Given the description of an element on the screen output the (x, y) to click on. 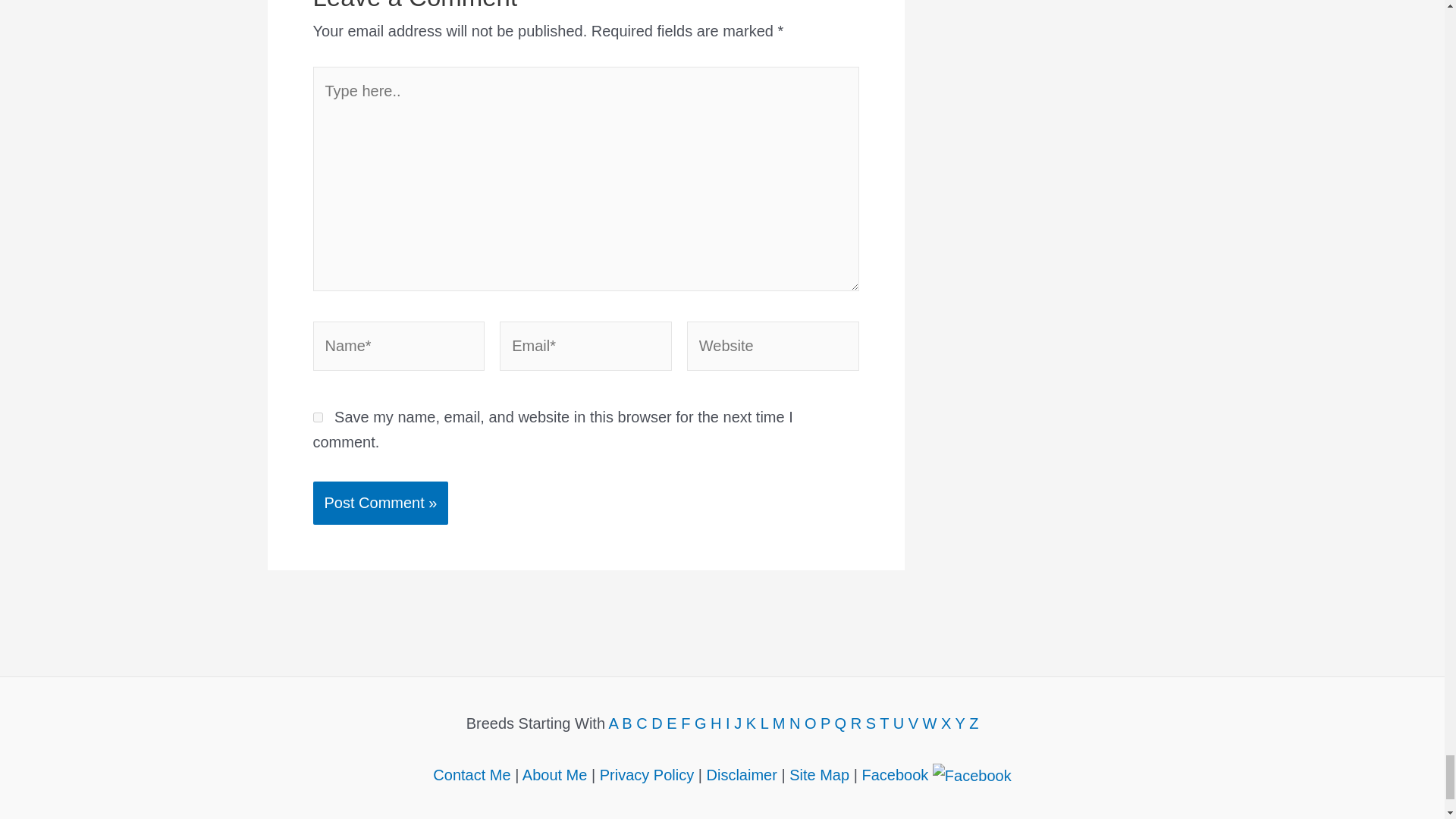
yes (317, 417)
